Given the description of an element on the screen output the (x, y) to click on. 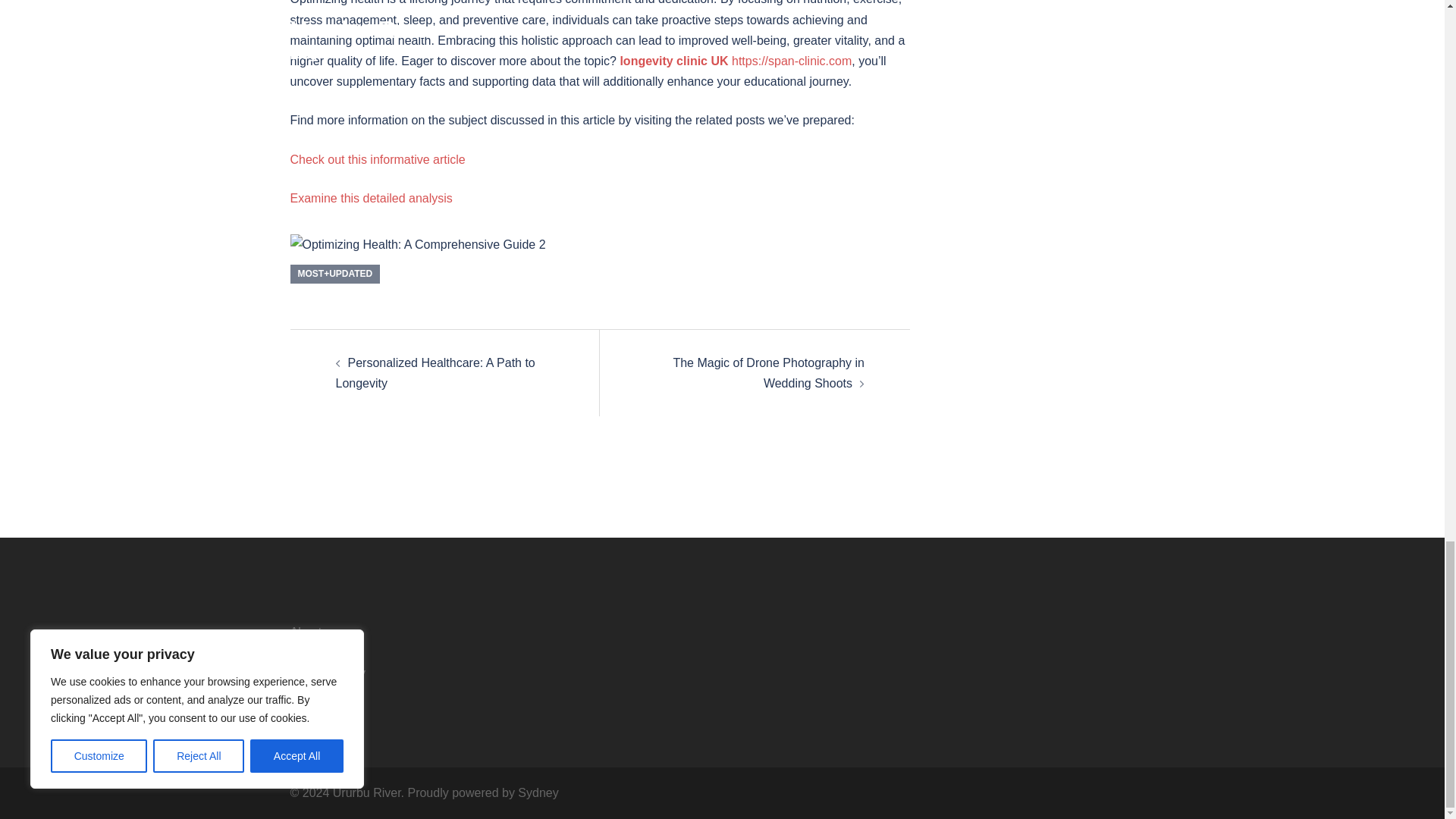
The Magic of Drone Photography in Wedding Shoots (768, 372)
Personalized Healthcare: A Path to Longevity (434, 372)
Check out this informative article (376, 159)
Examine this detailed analysis (370, 197)
